Given the description of an element on the screen output the (x, y) to click on. 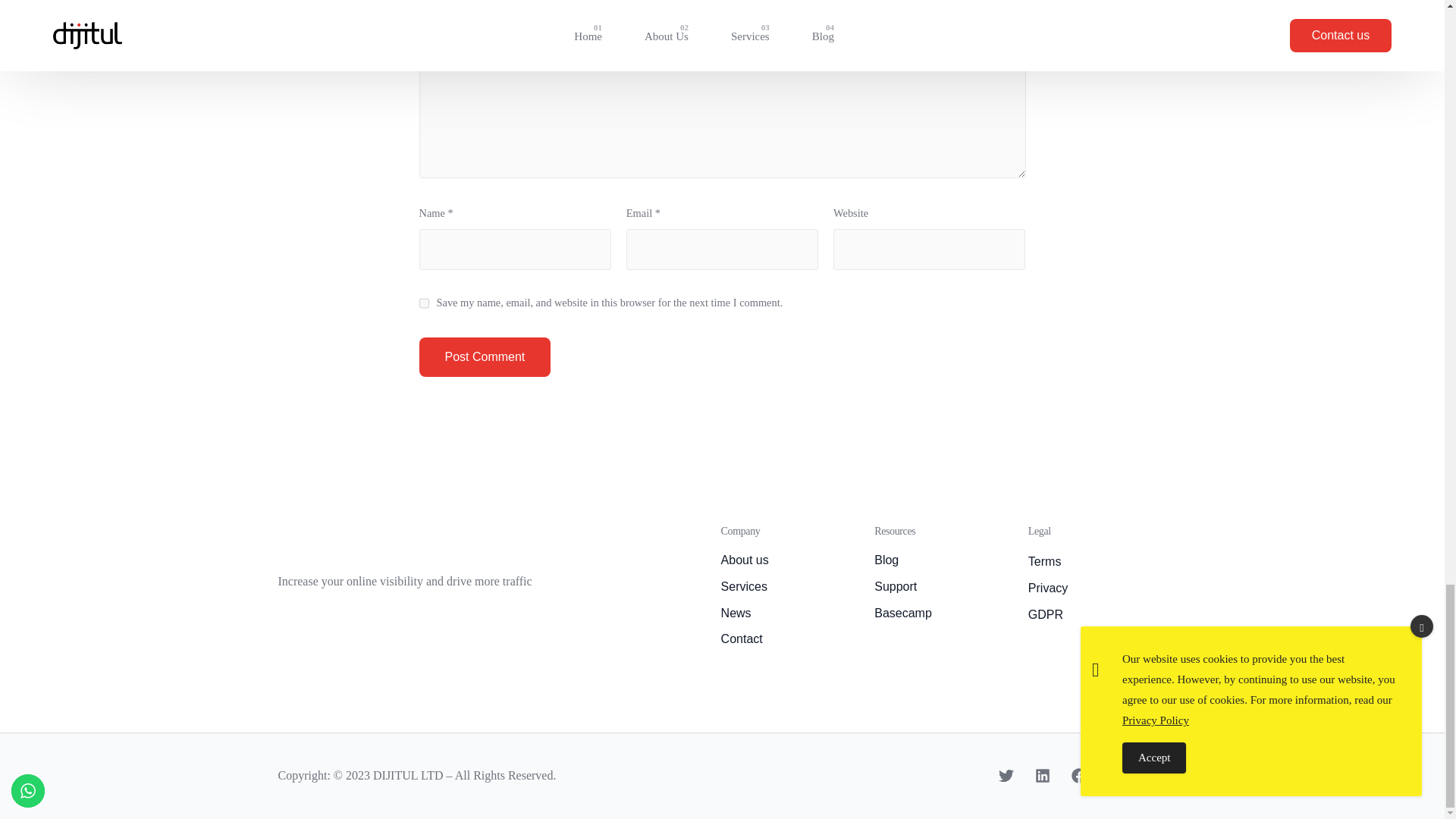
Post Comment (484, 356)
GDPR (1097, 615)
Blog (944, 560)
Services (790, 587)
Post Comment (484, 356)
Terms (1097, 562)
News (790, 613)
Support (944, 587)
About us (790, 560)
Privacy (1097, 588)
